Given the description of an element on the screen output the (x, y) to click on. 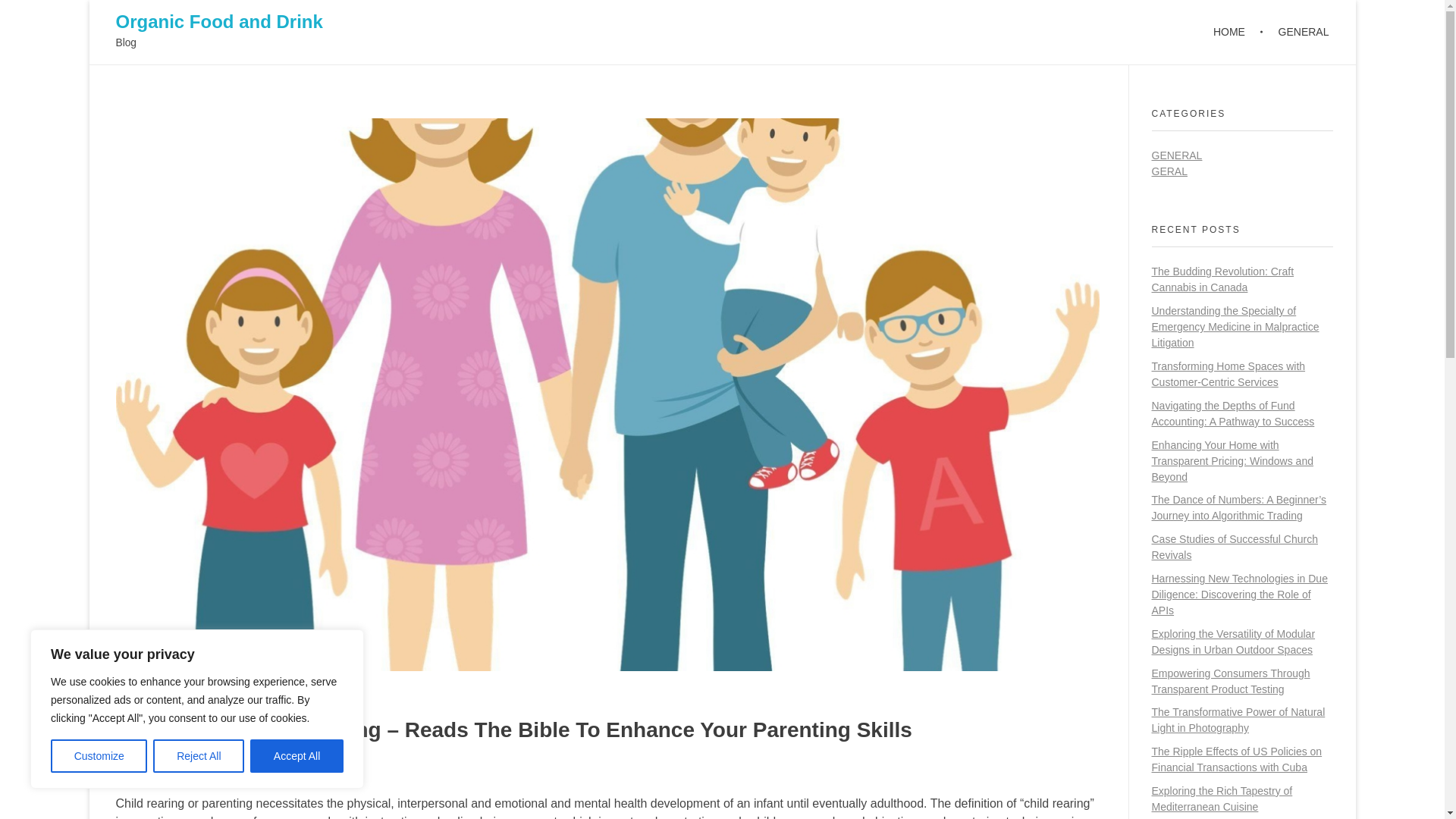
Transforming Home Spaces with Customer-Centric Services (1227, 374)
Organic Food and Drink (218, 21)
Accept All (296, 756)
Case Studies of Successful Church Revivals (1234, 547)
GENERAL (1295, 32)
Customize (98, 756)
Reject All (198, 756)
General (276, 770)
